Given the description of an element on the screen output the (x, y) to click on. 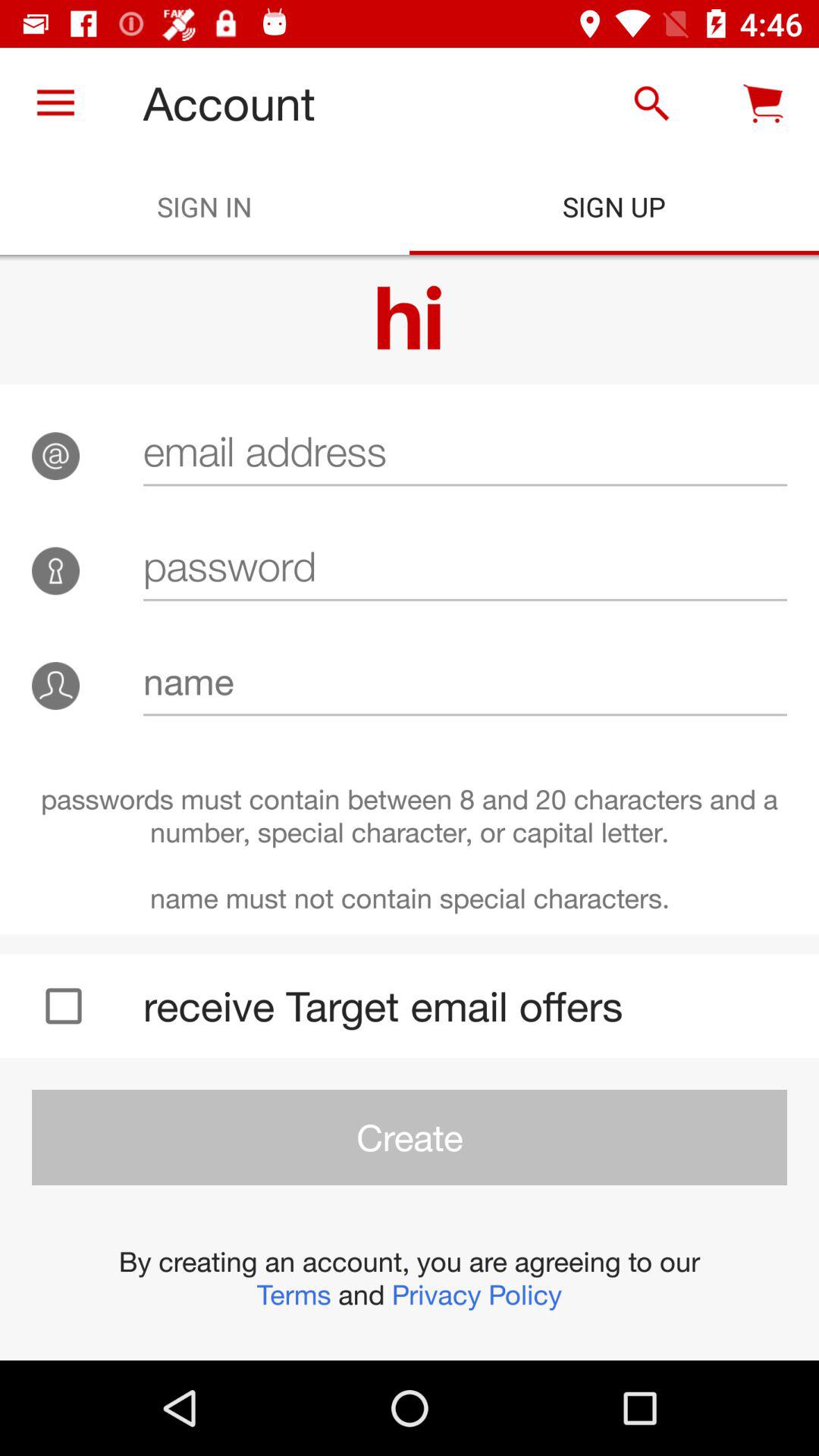
launch icon to the left of account (55, 103)
